Given the description of an element on the screen output the (x, y) to click on. 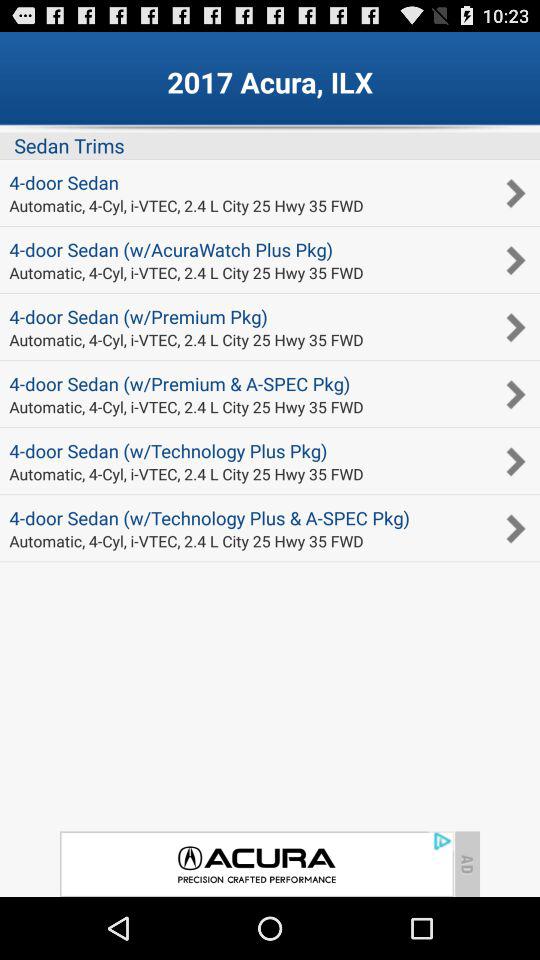
redirects the user to a website (256, 864)
